Given the description of an element on the screen output the (x, y) to click on. 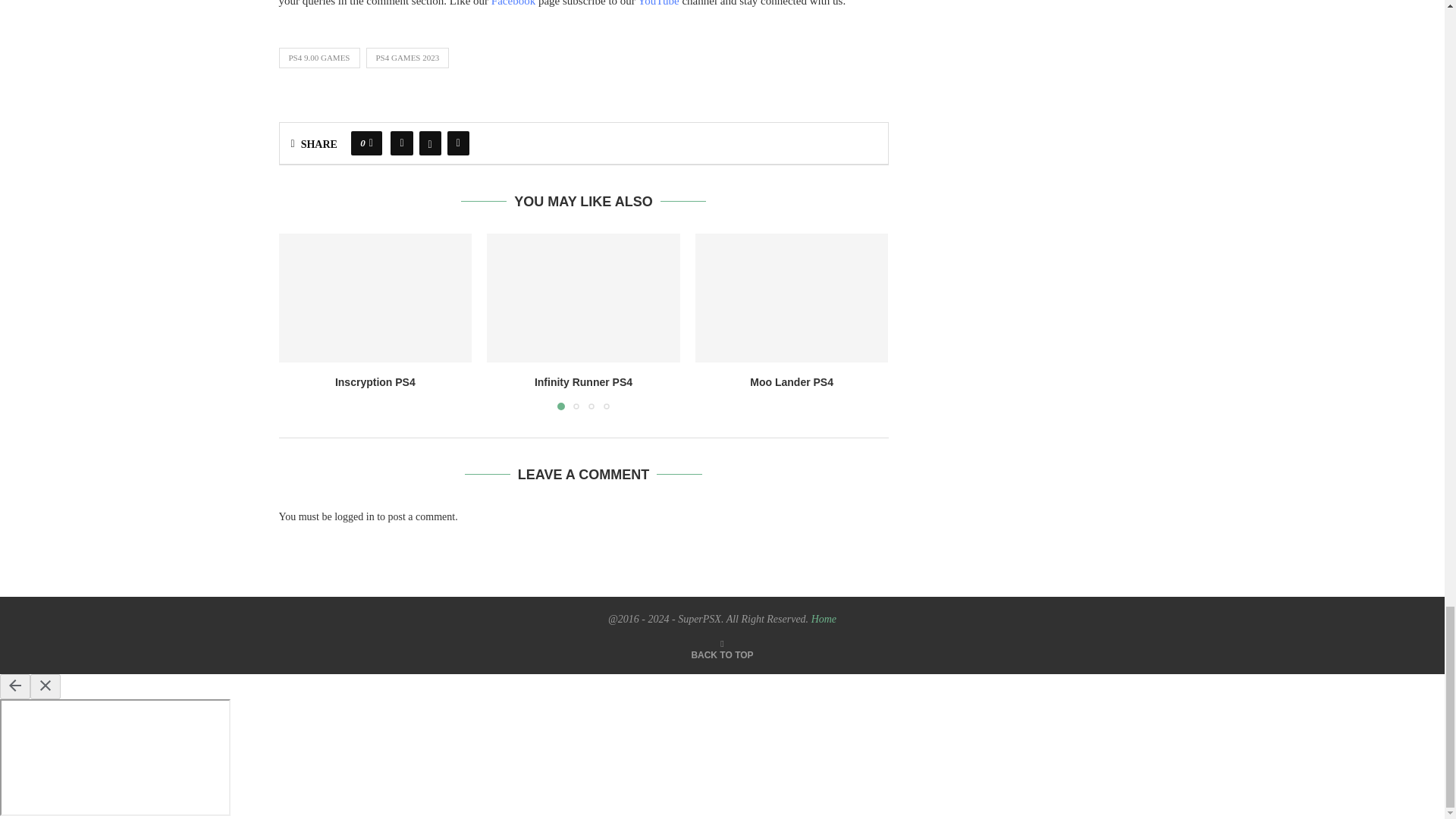
YouTube  (659, 3)
Like (370, 143)
Infinity Runner PS4 (582, 297)
PS4 9.00 GAMES (319, 57)
Moo Lander PS4 (791, 297)
Inscryption PS4 (375, 297)
Facebook (513, 3)
PS4 GAMES 2023 (406, 57)
